Given the description of an element on the screen output the (x, y) to click on. 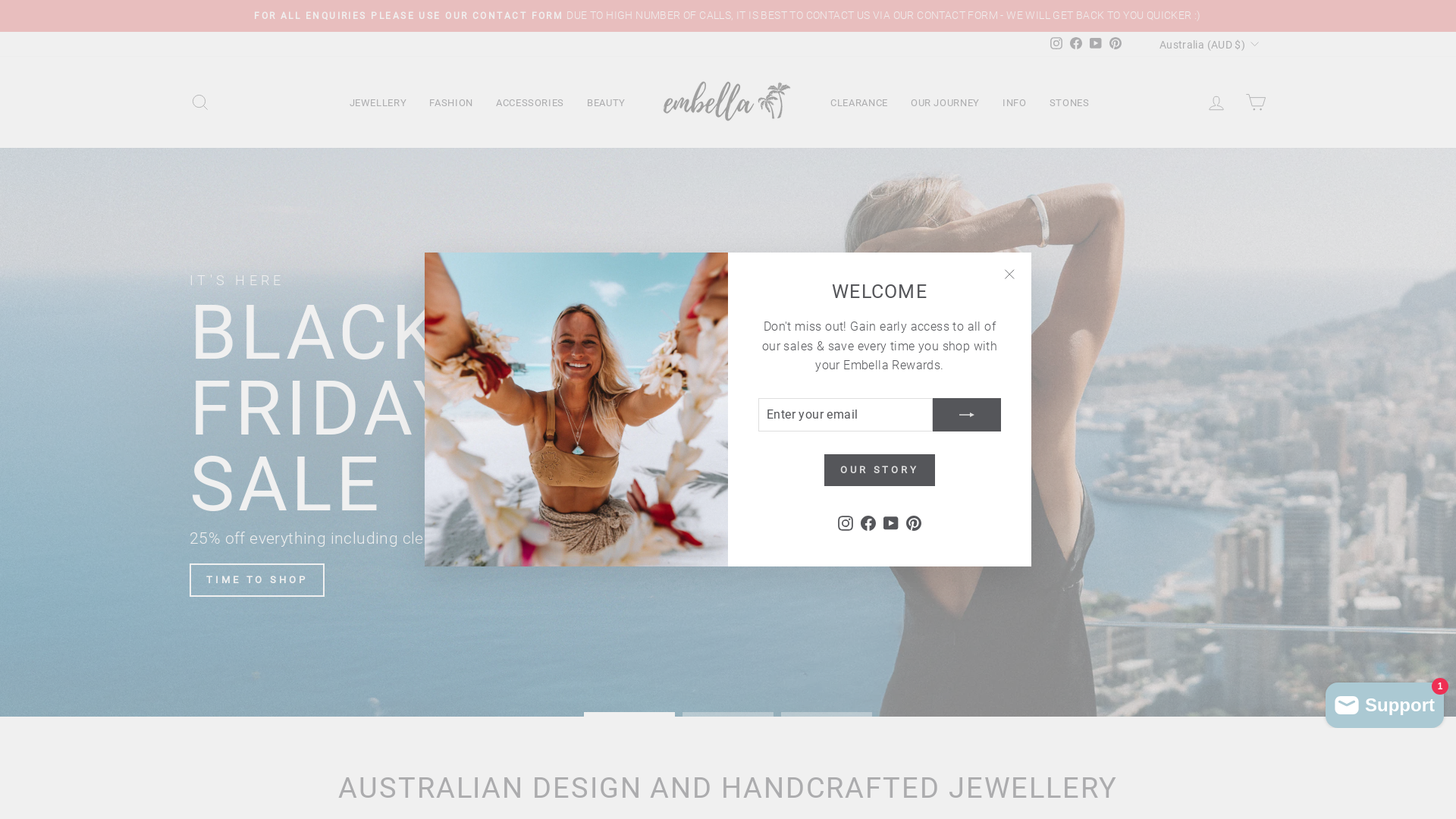
"Close (esc)" Element type: text (1008, 274)
Pinterest Element type: text (1115, 44)
OUR JOURNEY Element type: text (945, 101)
LOG IN Element type: text (1216, 102)
Instagram Element type: text (1056, 44)
BEAUTY Element type: text (606, 101)
Skip to content Element type: text (0, 0)
JEWELLERY Element type: text (378, 101)
YouTube Element type: text (890, 522)
Australia (AUD $) Element type: text (1207, 43)
INFO Element type: text (1014, 101)
STONES Element type: text (1069, 101)
ACCESSORIES Element type: text (529, 101)
Shopify online store chat Element type: hover (1384, 702)
TIME TO SHOP Element type: text (256, 579)
SEARCH Element type: text (199, 102)
CLEARANCE Element type: text (859, 101)
OUR STORY Element type: text (879, 470)
Facebook Element type: text (867, 522)
Instagram Element type: text (845, 522)
Facebook Element type: text (1075, 44)
FASHION Element type: text (450, 101)
Pinterest Element type: text (913, 522)
CART Element type: text (1255, 102)
YouTube Element type: text (1095, 44)
